Given the description of an element on the screen output the (x, y) to click on. 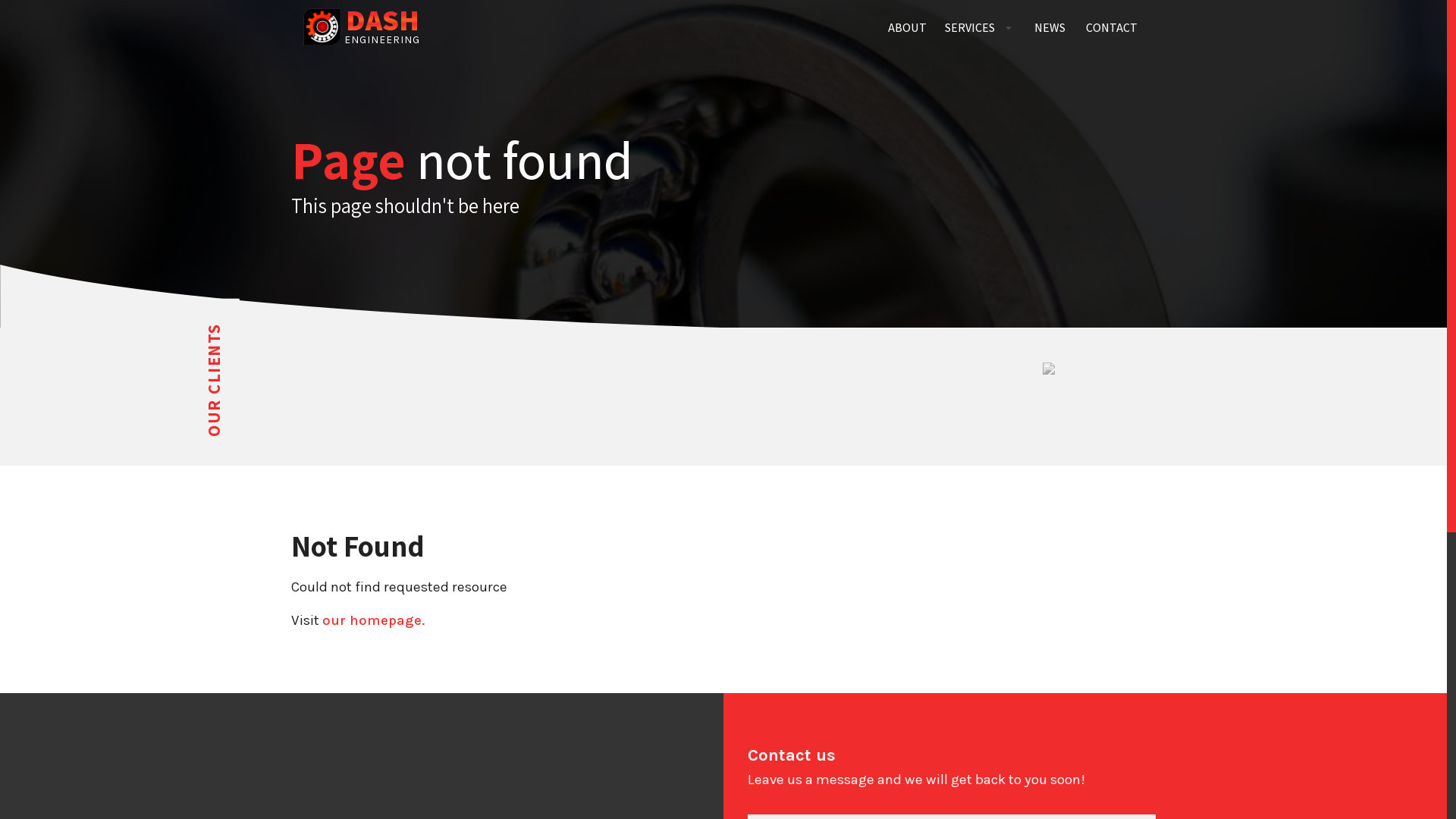
NEWS Element type: text (1049, 27)
ABOUT Element type: text (906, 27)
DASH
ENGINEERING Element type: text (361, 27)
CONTACT Element type: text (1111, 27)
our homepage. Element type: text (373, 619)
SERVICES Element type: text (978, 27)
